Given the description of an element on the screen output the (x, y) to click on. 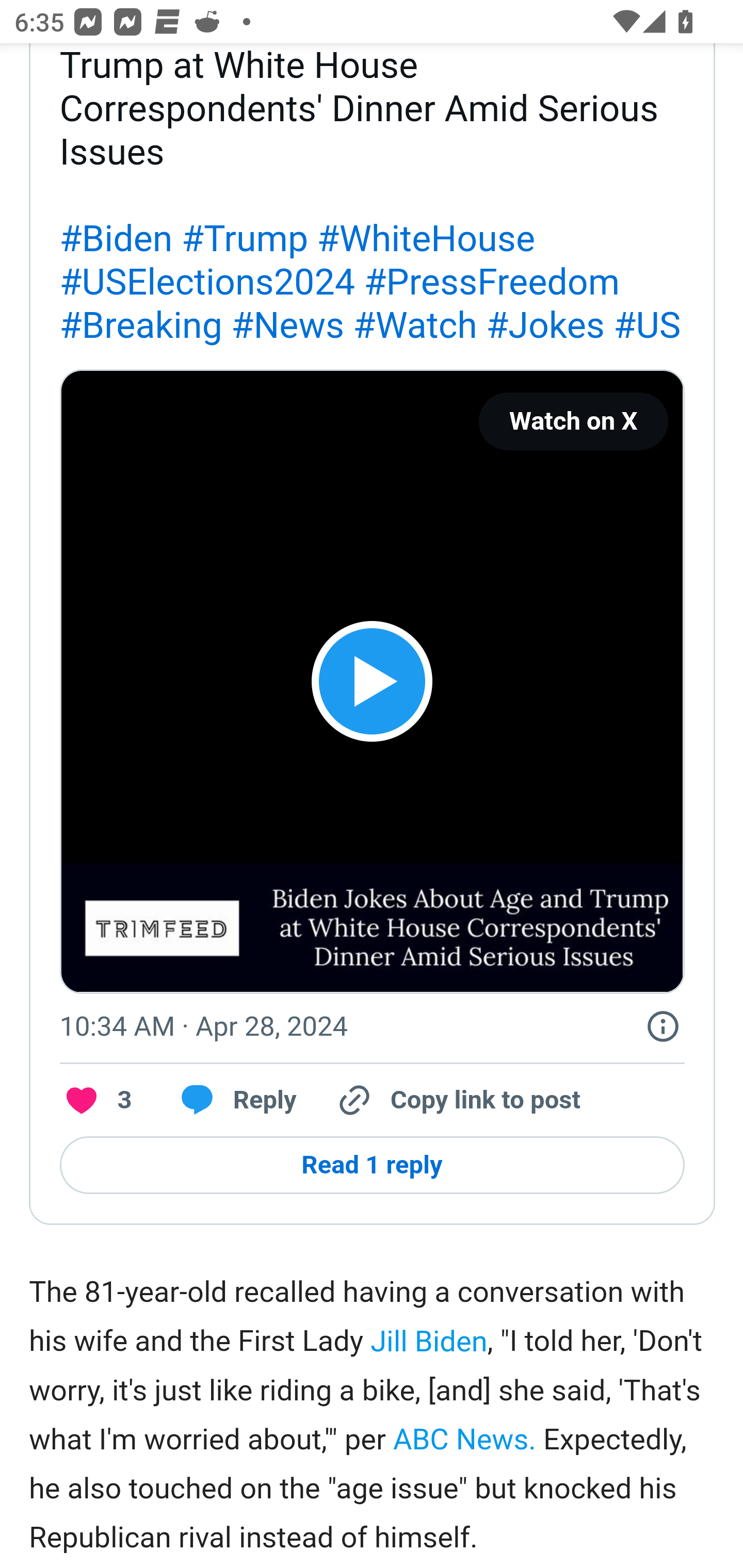
#Biden (115, 238)
#Trump (244, 238)
#WhiteHouse (425, 238)
#USElections2024 (206, 282)
#PressFreedom (491, 282)
#Breaking (140, 325)
#News (287, 325)
#Watch (415, 325)
#Jokes (544, 325)
#US (647, 325)
Play Video Play Video Watch on X Watch on X (371, 681)
Watch on X (573, 421)
Play Video (371, 681)
X Ads info and privacy (662, 1026)
10:34 AM · Apr 28, 2024 (202, 1025)
Like. This post has 3 likes 3 (95, 1100)
Reply to this post on X Reply (231, 1100)
Copy link to post (456, 1100)
Read 1 reply (371, 1164)
Jill Biden (428, 1340)
ABC News. (464, 1440)
